Given the description of an element on the screen output the (x, y) to click on. 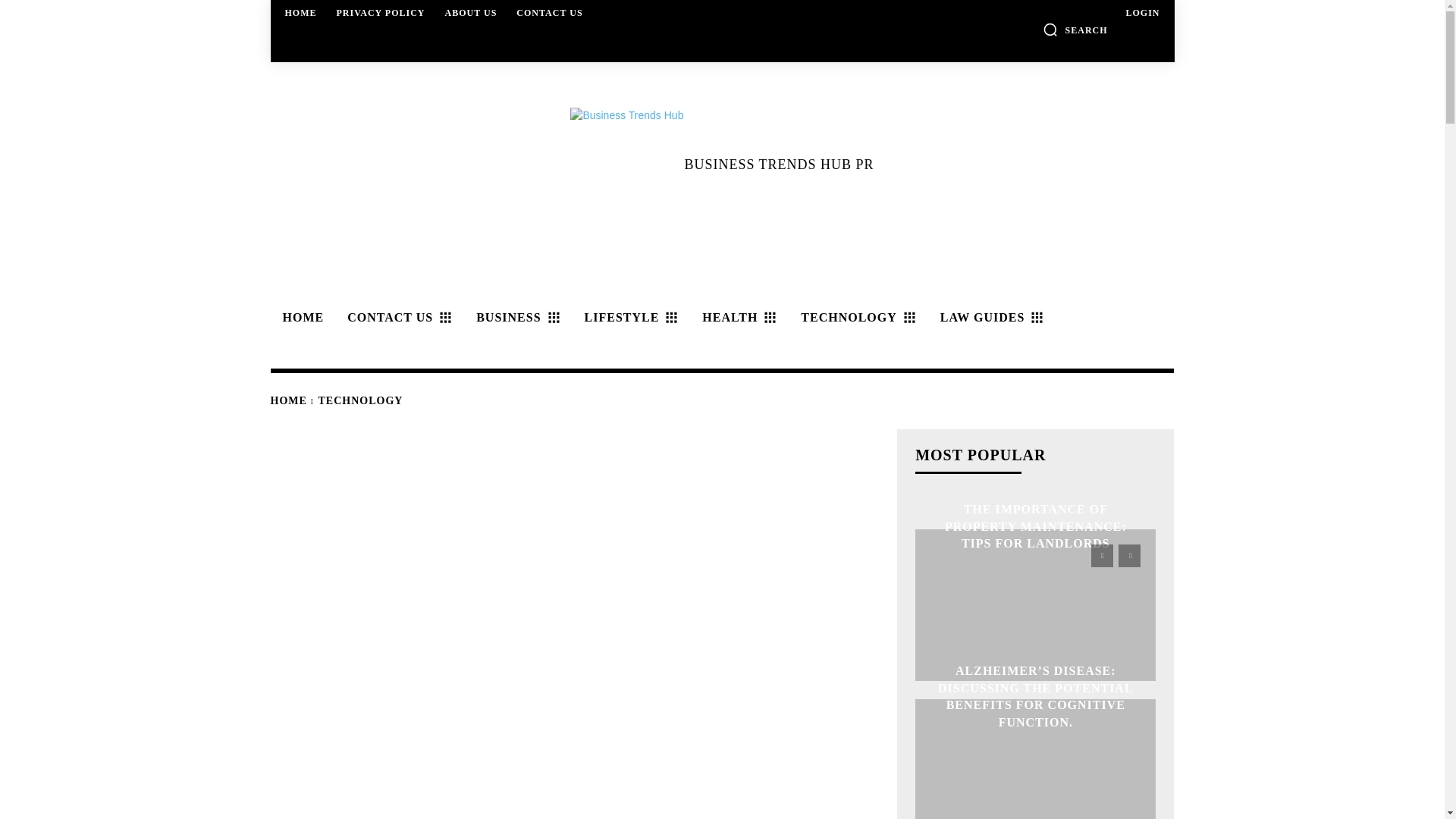
ABOUT US (471, 12)
HOME (301, 12)
SEARCH (1075, 29)
PRIVACY POLICY (380, 12)
HOME (300, 317)
View all posts in Technology (360, 400)
Business Trends Hub (627, 164)
LOGIN (1141, 12)
BUSINESS TRENDS HUB PR (721, 164)
CONTACT US (548, 12)
